Given the description of an element on the screen output the (x, y) to click on. 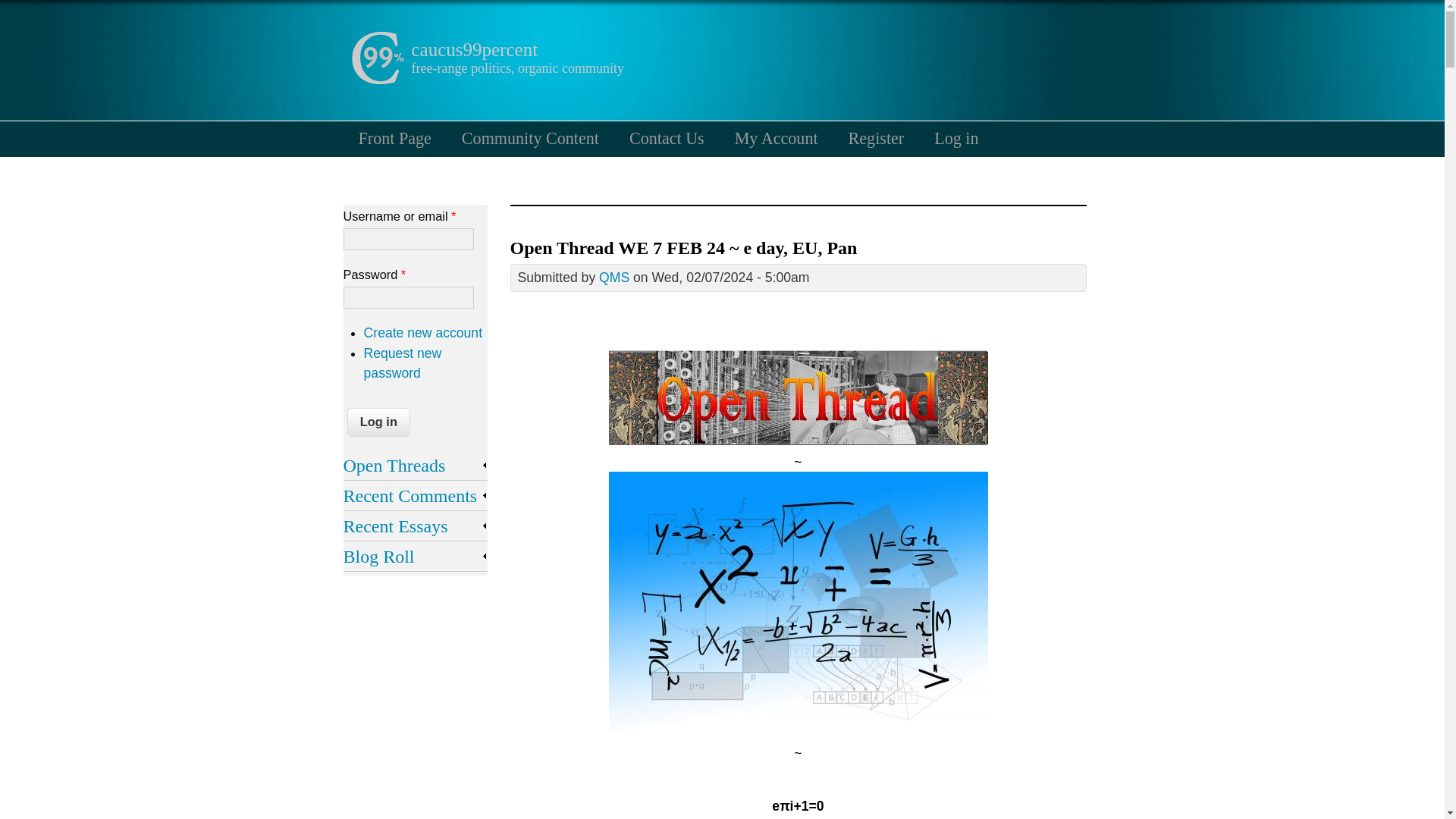
Log in (378, 421)
Register (876, 138)
Front Page (393, 138)
QMS (613, 277)
Front Page Featured Editorials (393, 138)
Home (473, 49)
Contact Us (666, 138)
Home (376, 79)
caucus99percent (473, 49)
Contact the Administrator (666, 138)
View user profile. (613, 277)
Community Content (530, 138)
My Account (775, 138)
Log in (955, 138)
My personal user account (775, 138)
